Given the description of an element on the screen output the (x, y) to click on. 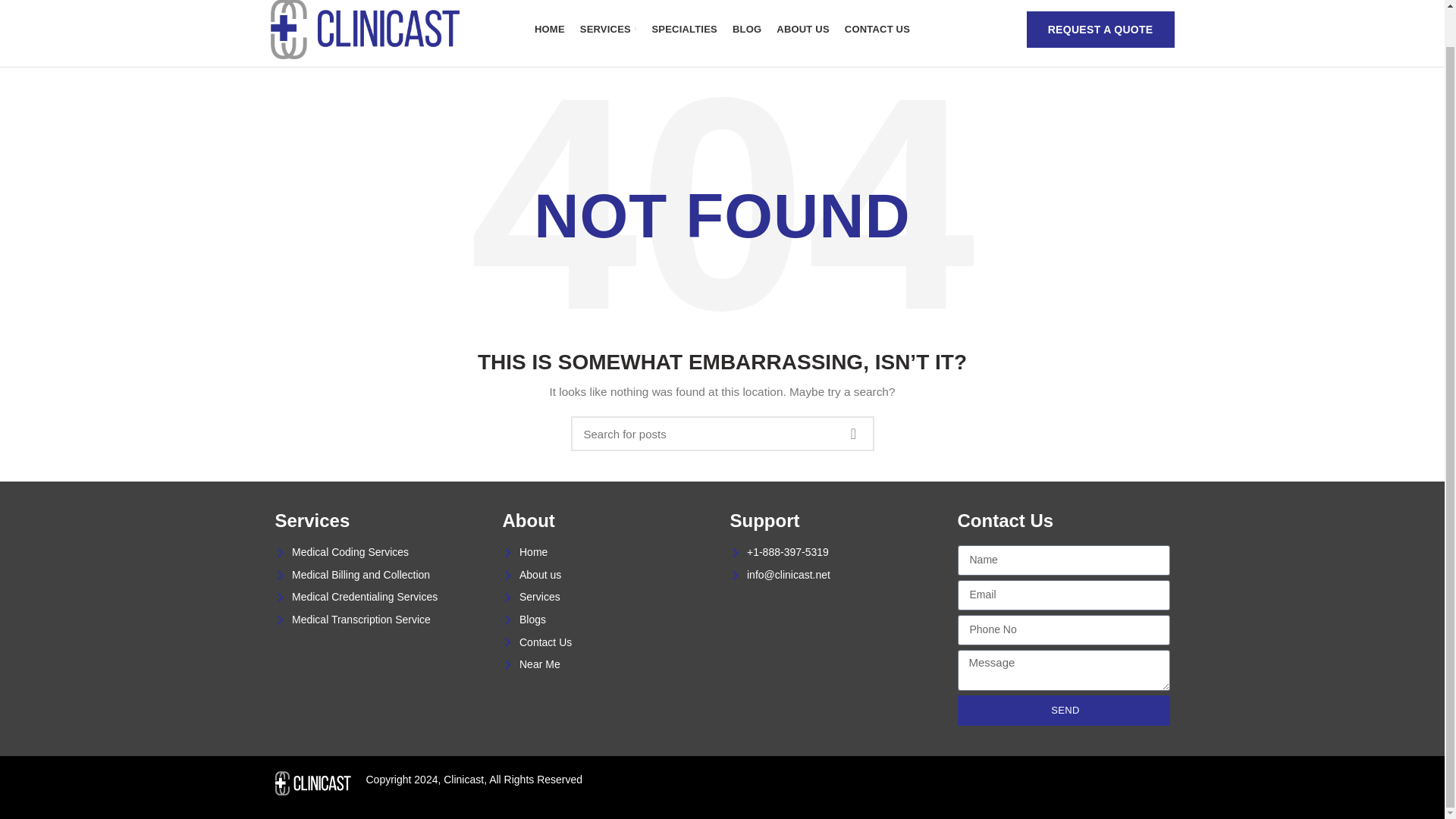
Services (608, 597)
Medical Transcription Service (380, 620)
Near Me (608, 664)
HOME (549, 29)
ABOUT US (802, 29)
About us (608, 575)
Contact Us (608, 642)
SPECIALTIES (683, 29)
Blogs (608, 620)
BLOG (746, 29)
